Given the description of an element on the screen output the (x, y) to click on. 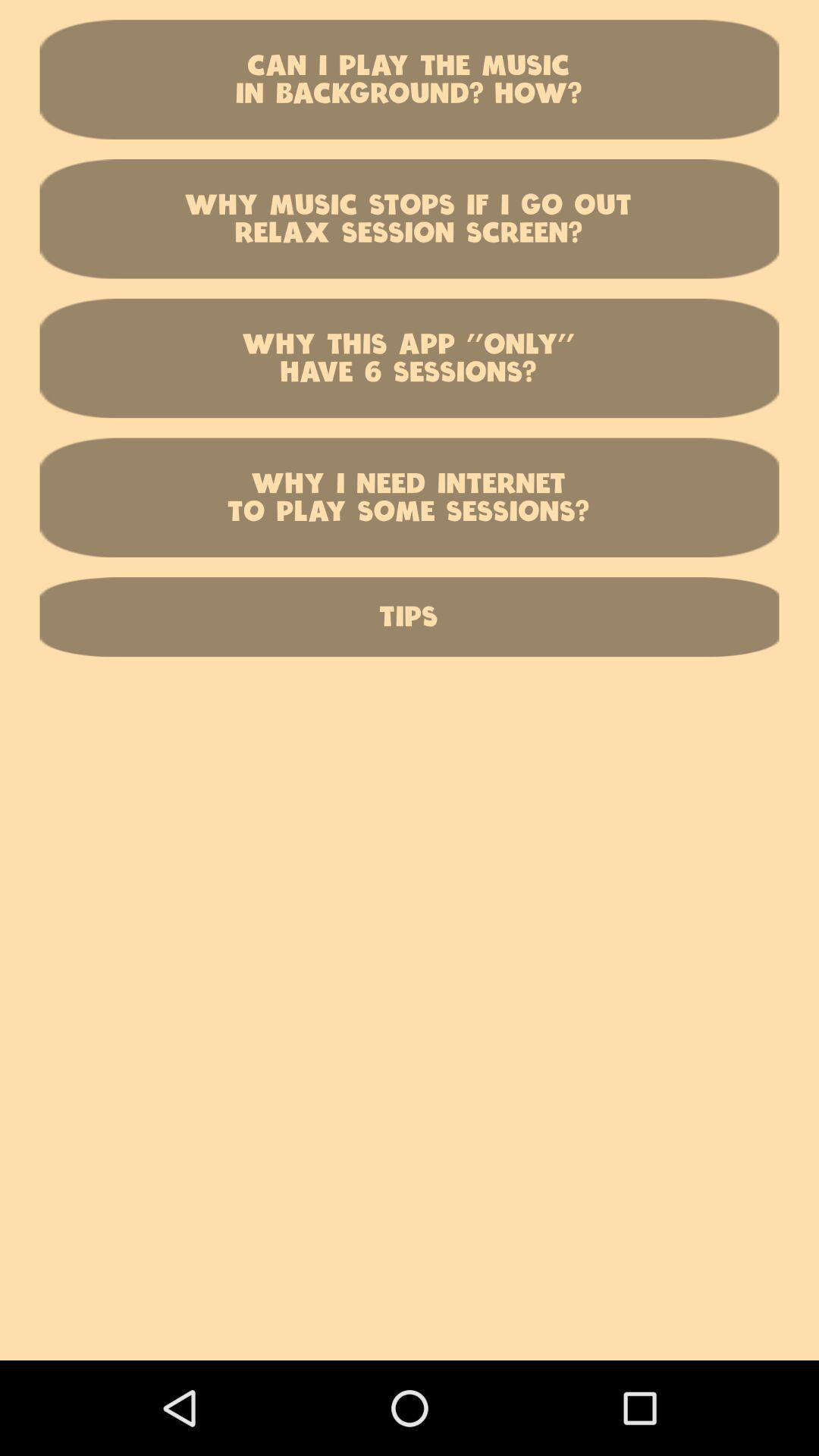
swipe to why music stops item (409, 218)
